Given the description of an element on the screen output the (x, y) to click on. 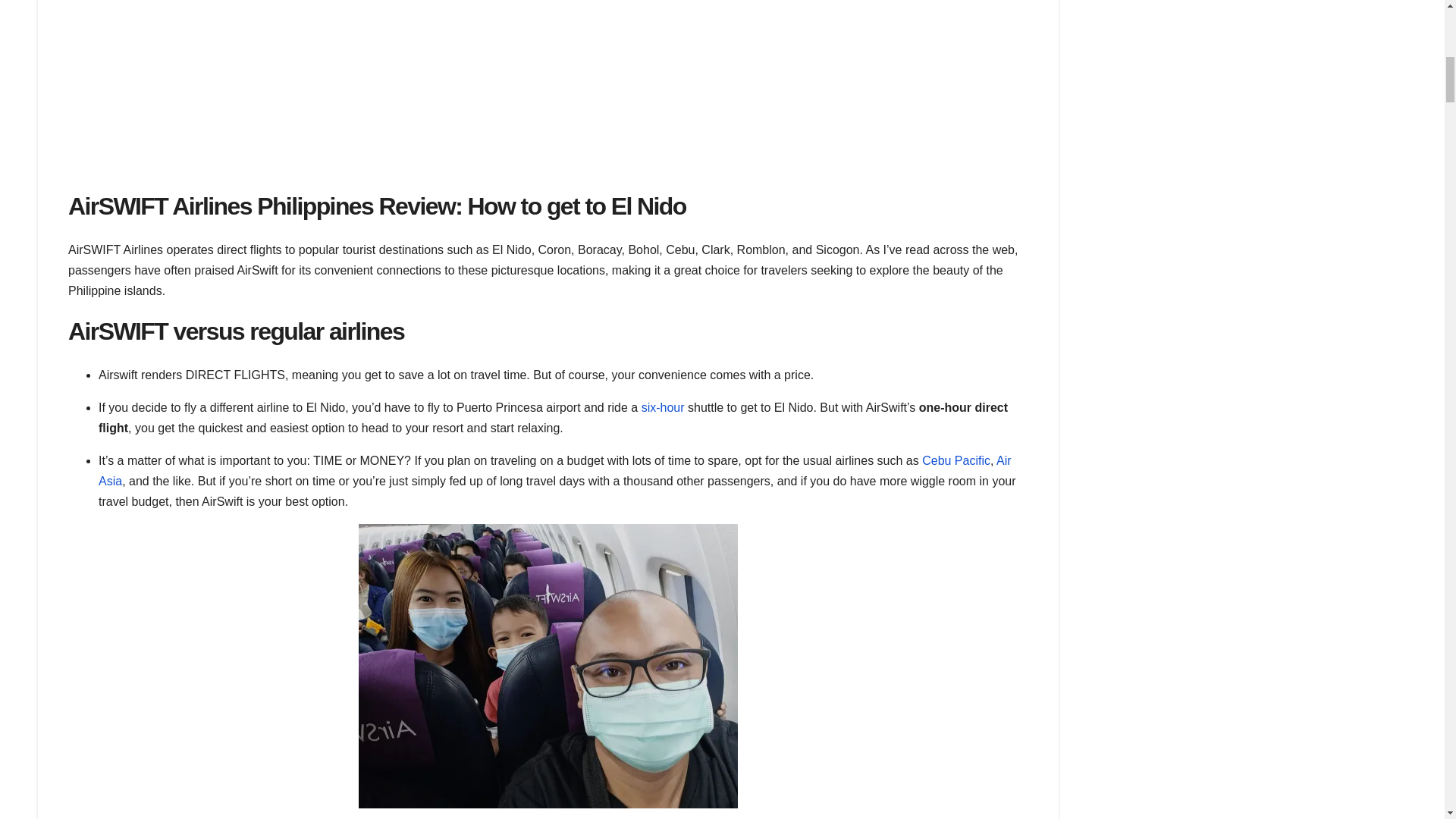
six-hour (663, 407)
Cebu Pacific (955, 460)
Air Asia (555, 470)
